Given the description of an element on the screen output the (x, y) to click on. 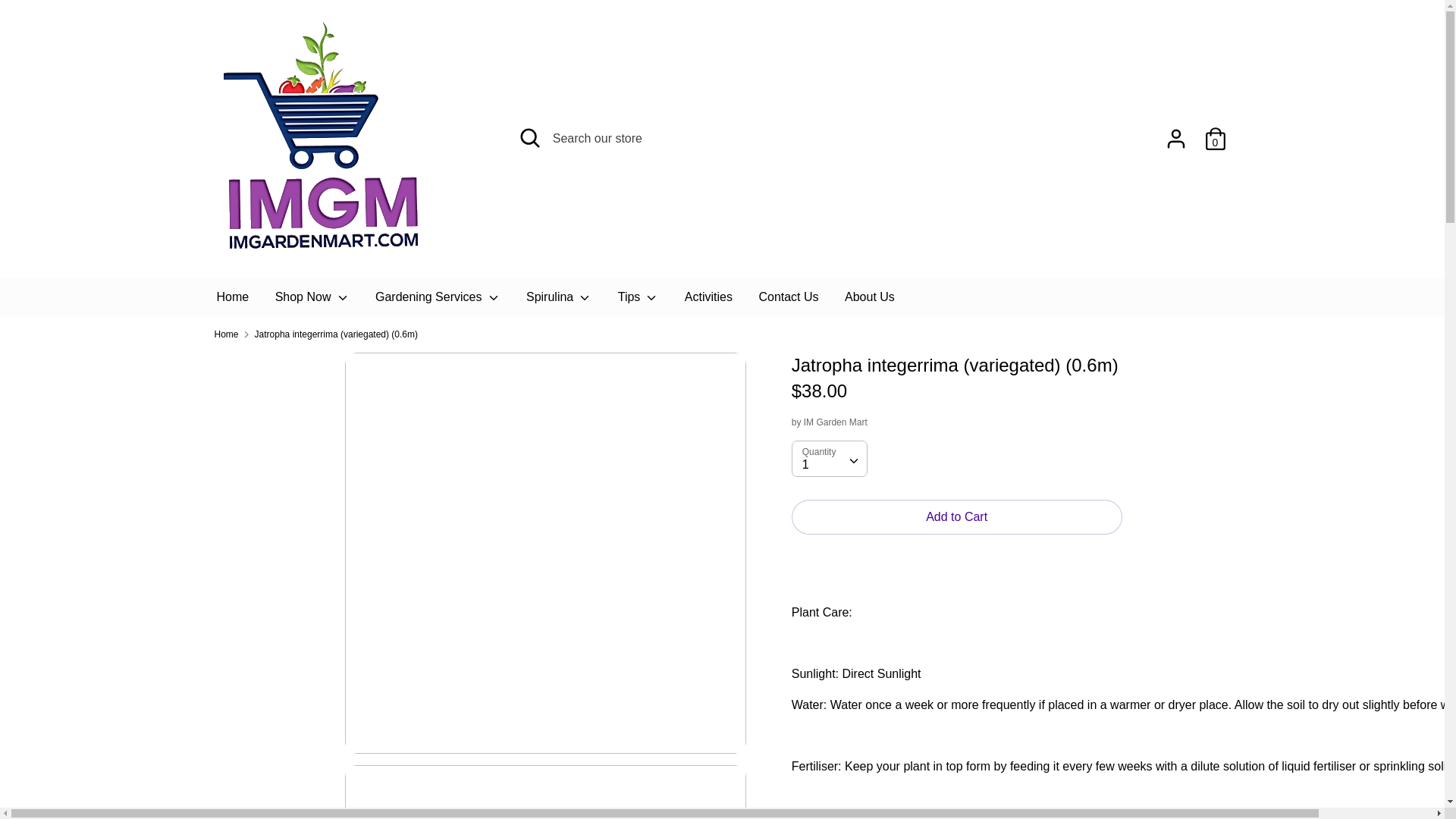
Google Pay (1079, 758)
0 (1214, 132)
American Express (1011, 758)
Apple Pay (1044, 758)
1 (829, 458)
